Given the description of an element on the screen output the (x, y) to click on. 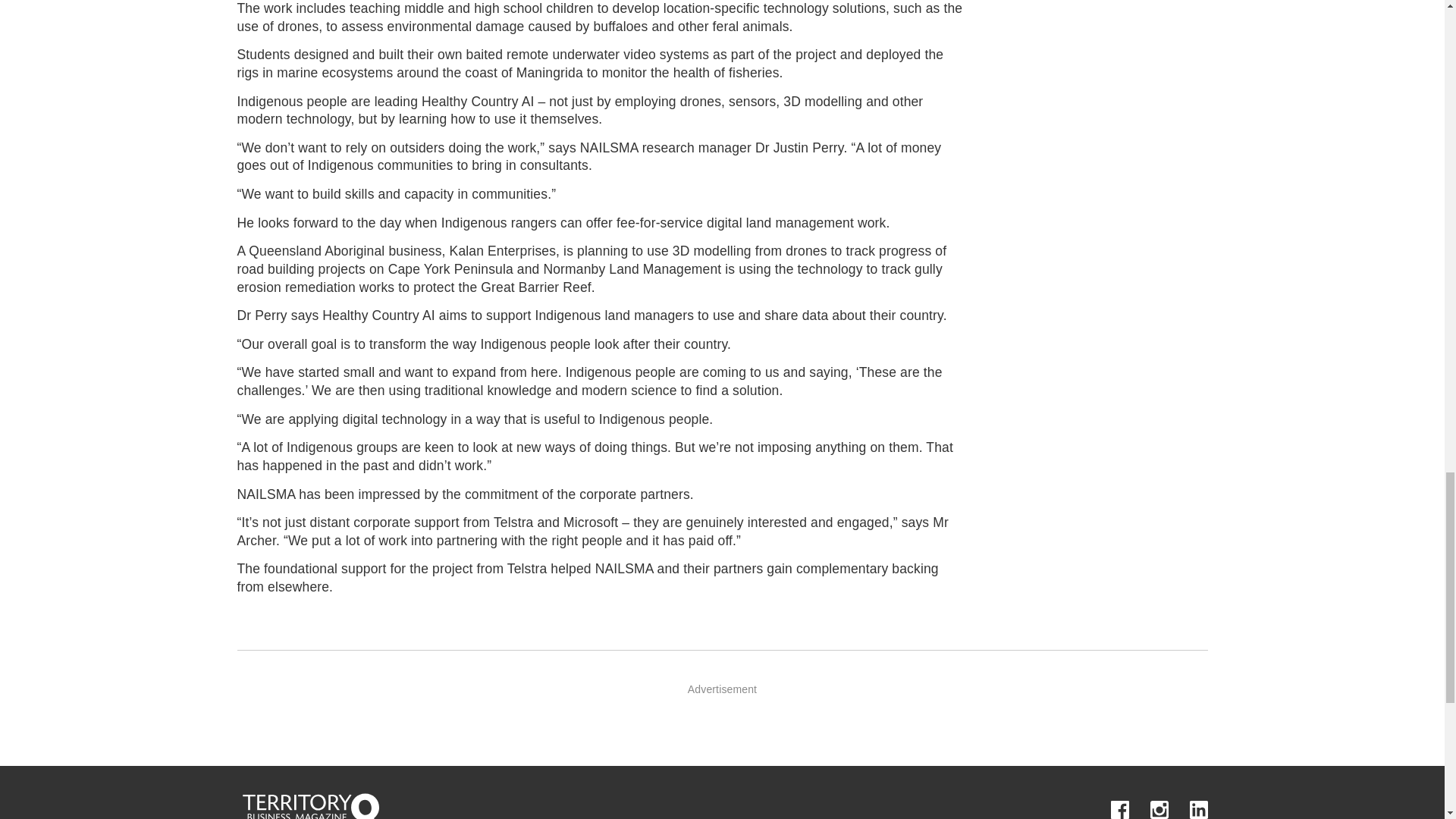
Facebook (1118, 808)
LinkedIn (1198, 808)
Instagram (1158, 808)
